Given the description of an element on the screen output the (x, y) to click on. 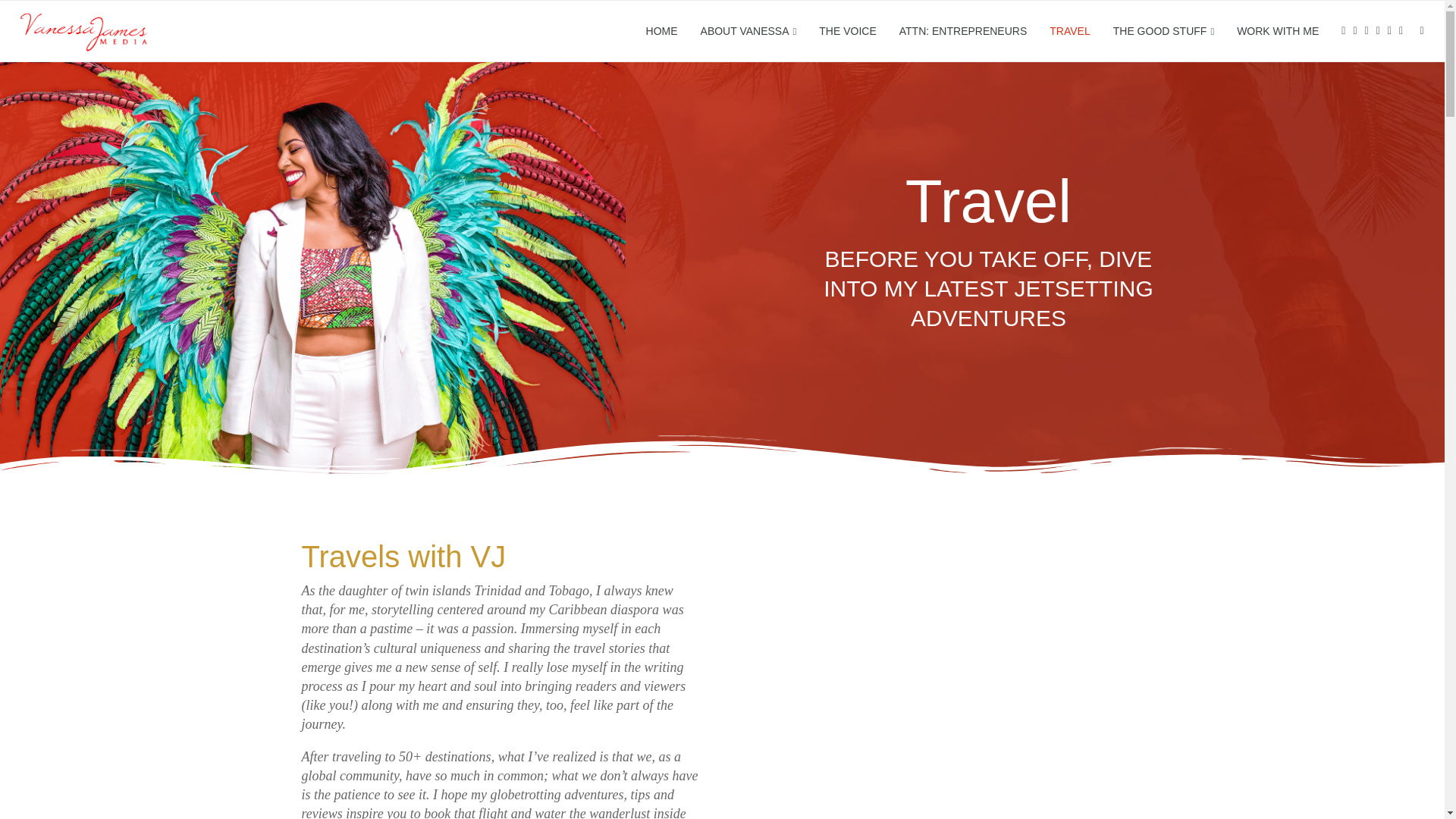
WORK WITH ME (1277, 30)
THE VOICE (847, 30)
THE GOOD STUFF (1163, 31)
ATTN: ENTREPRENEURS (963, 30)
ABOUT VANESSA (748, 31)
